Given the description of an element on the screen output the (x, y) to click on. 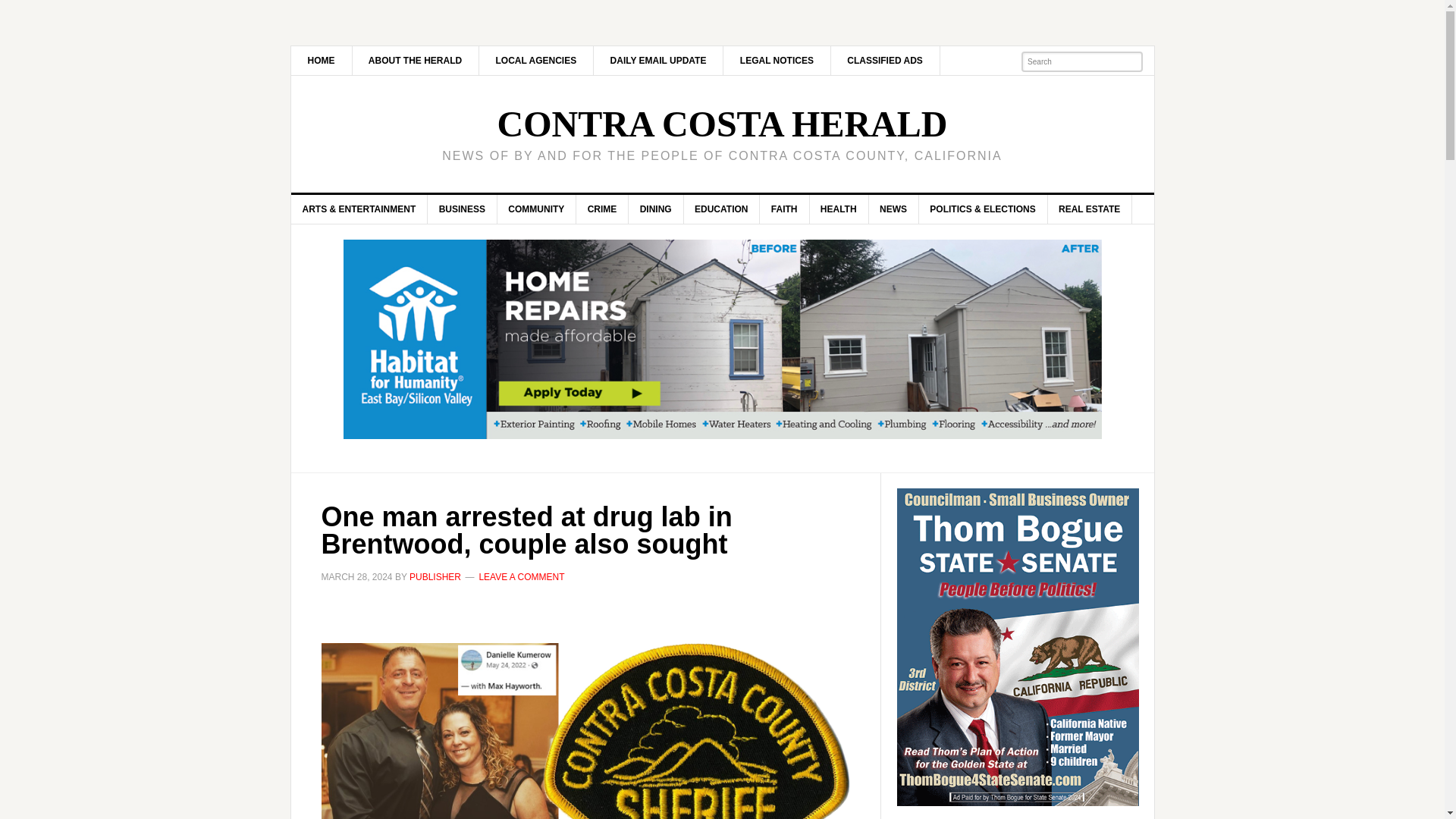
CLASSIFIED ADS (884, 60)
CRIME (602, 208)
FAITH (784, 208)
LOCAL AGENCIES (536, 60)
DINING (656, 208)
EDUCATION (721, 208)
NEWS (892, 208)
LEAVE A COMMENT (521, 576)
HOME (321, 60)
BUSINESS (462, 208)
ABOUT THE HERALD (415, 60)
COMMUNITY (536, 208)
HEALTH (839, 208)
CONTRA COSTA HERALD (722, 124)
